Given the description of an element on the screen output the (x, y) to click on. 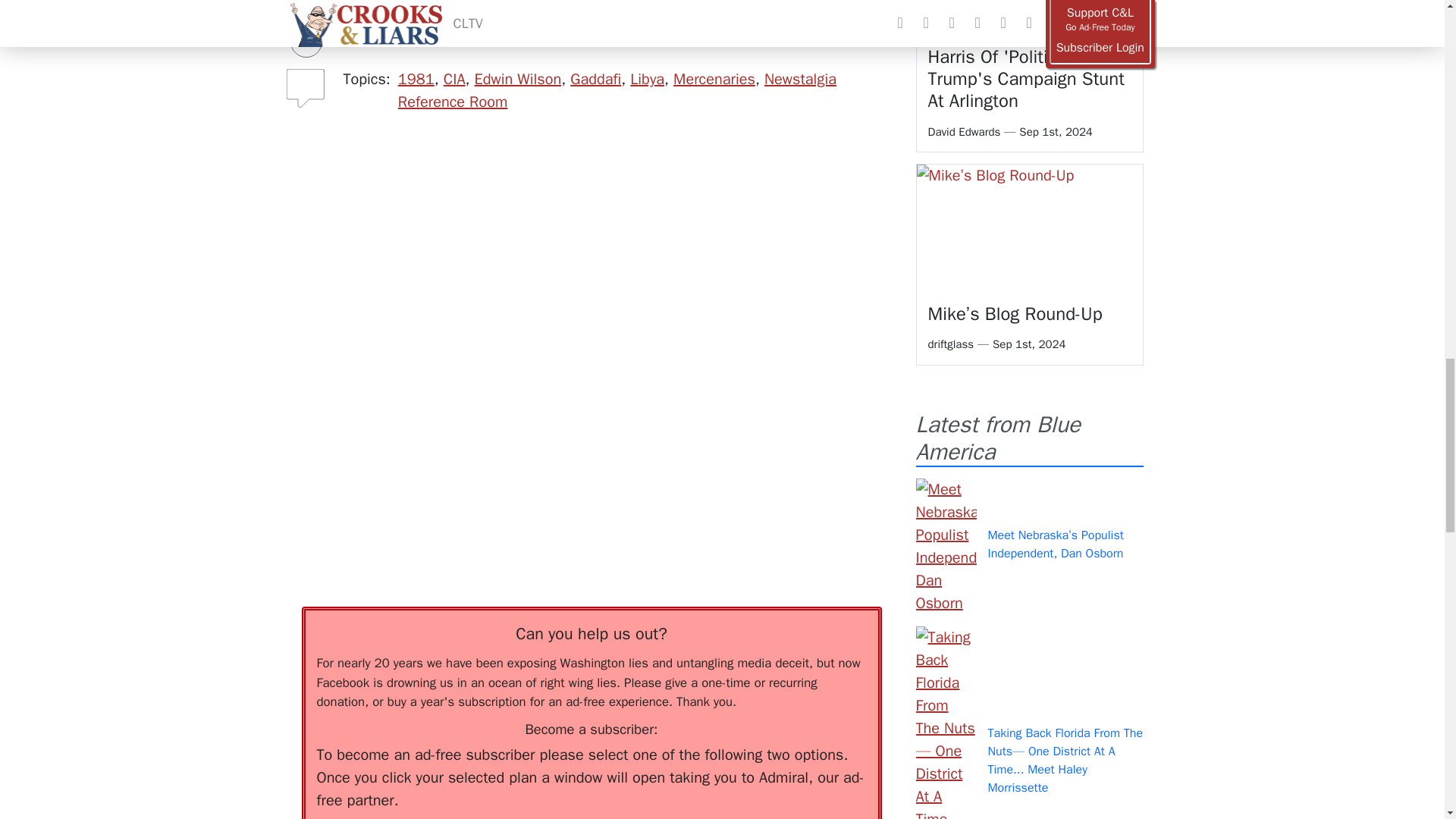
Edwin Wilson (518, 78)
Libya (646, 78)
CIA (454, 78)
Gaddafi (595, 78)
Mercenaries (713, 78)
1981 (415, 78)
